Given the description of an element on the screen output the (x, y) to click on. 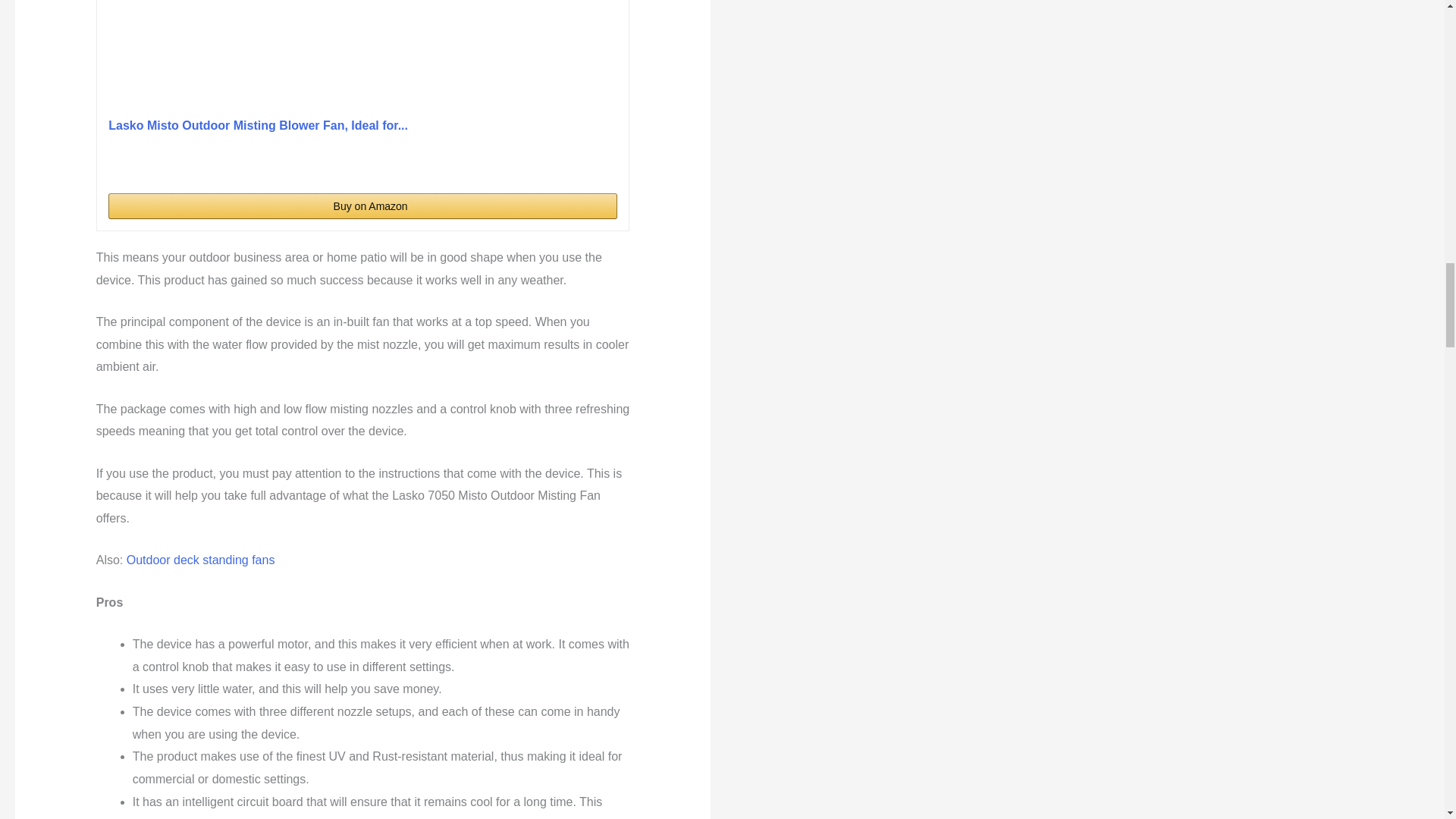
Buy on Amazon (362, 206)
